Given the description of an element on the screen output the (x, y) to click on. 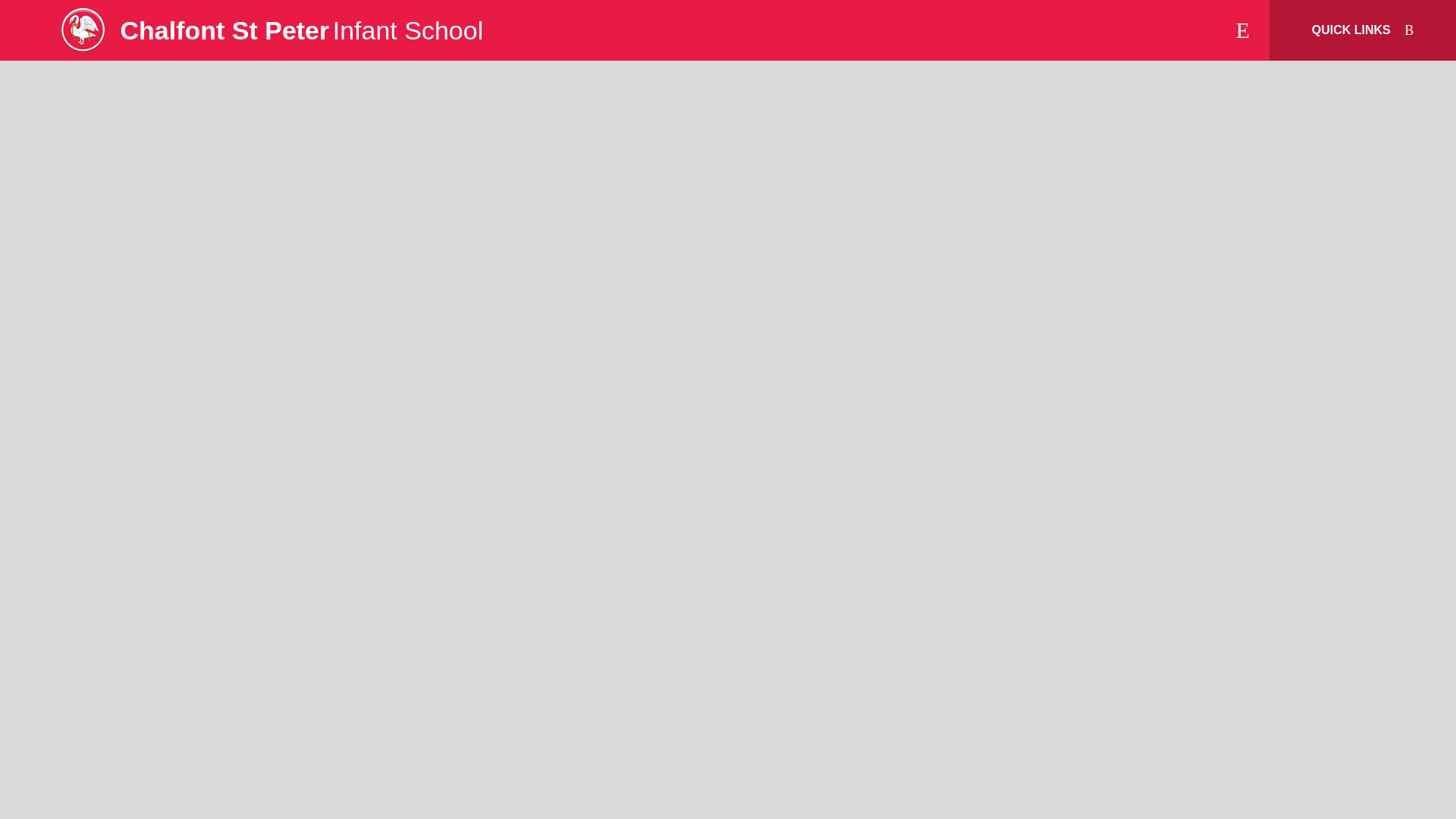
Home Page (82, 29)
